Given the description of an element on the screen output the (x, y) to click on. 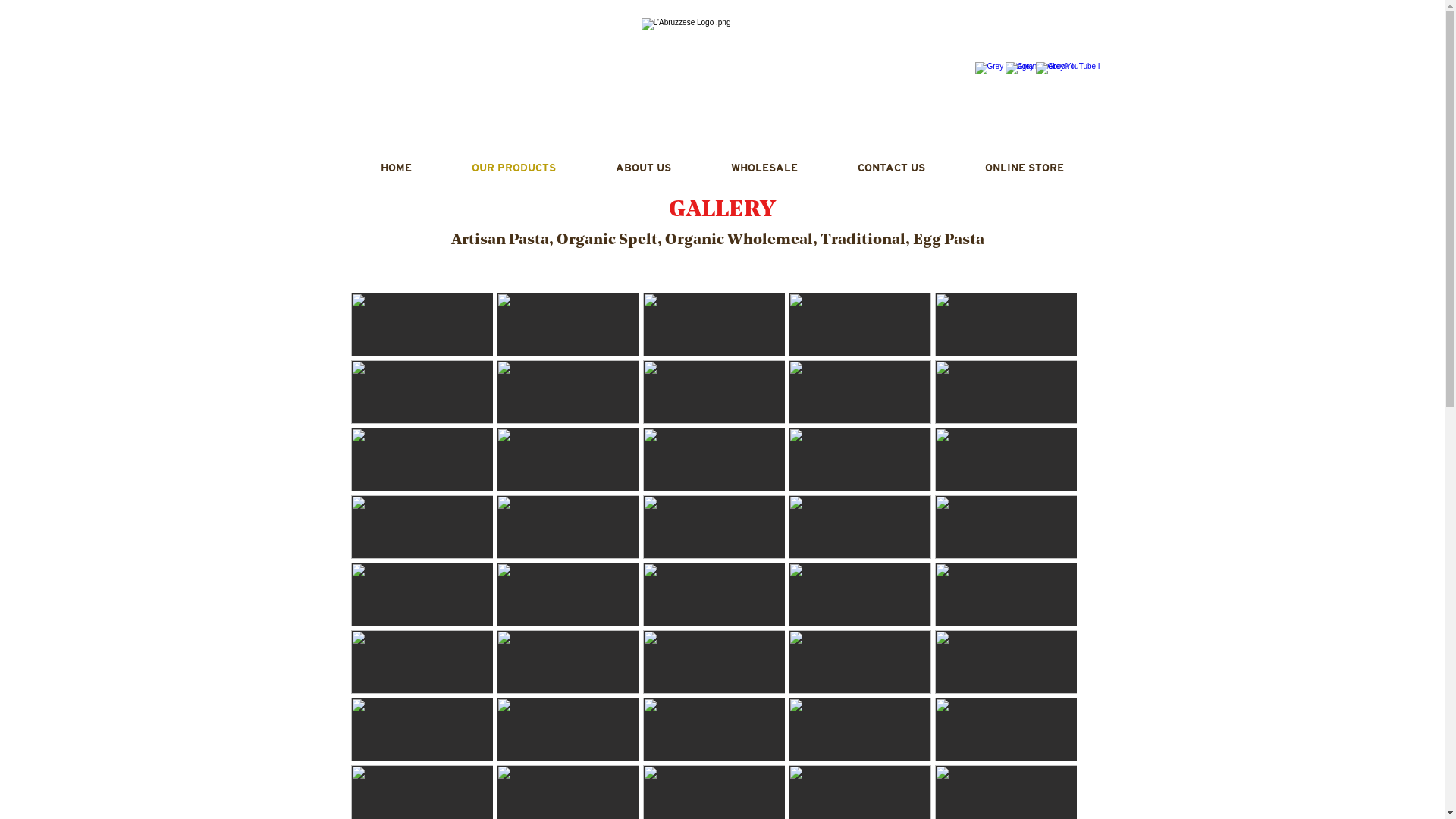
ABOUT US Element type: text (642, 167)
ONLINE STORE Element type: text (1024, 167)
CONTACT US Element type: text (891, 167)
WHOLESALE Element type: text (763, 167)
OUR PRODUCTS Element type: text (513, 167)
HOME Element type: text (395, 167)
